Given the description of an element on the screen output the (x, y) to click on. 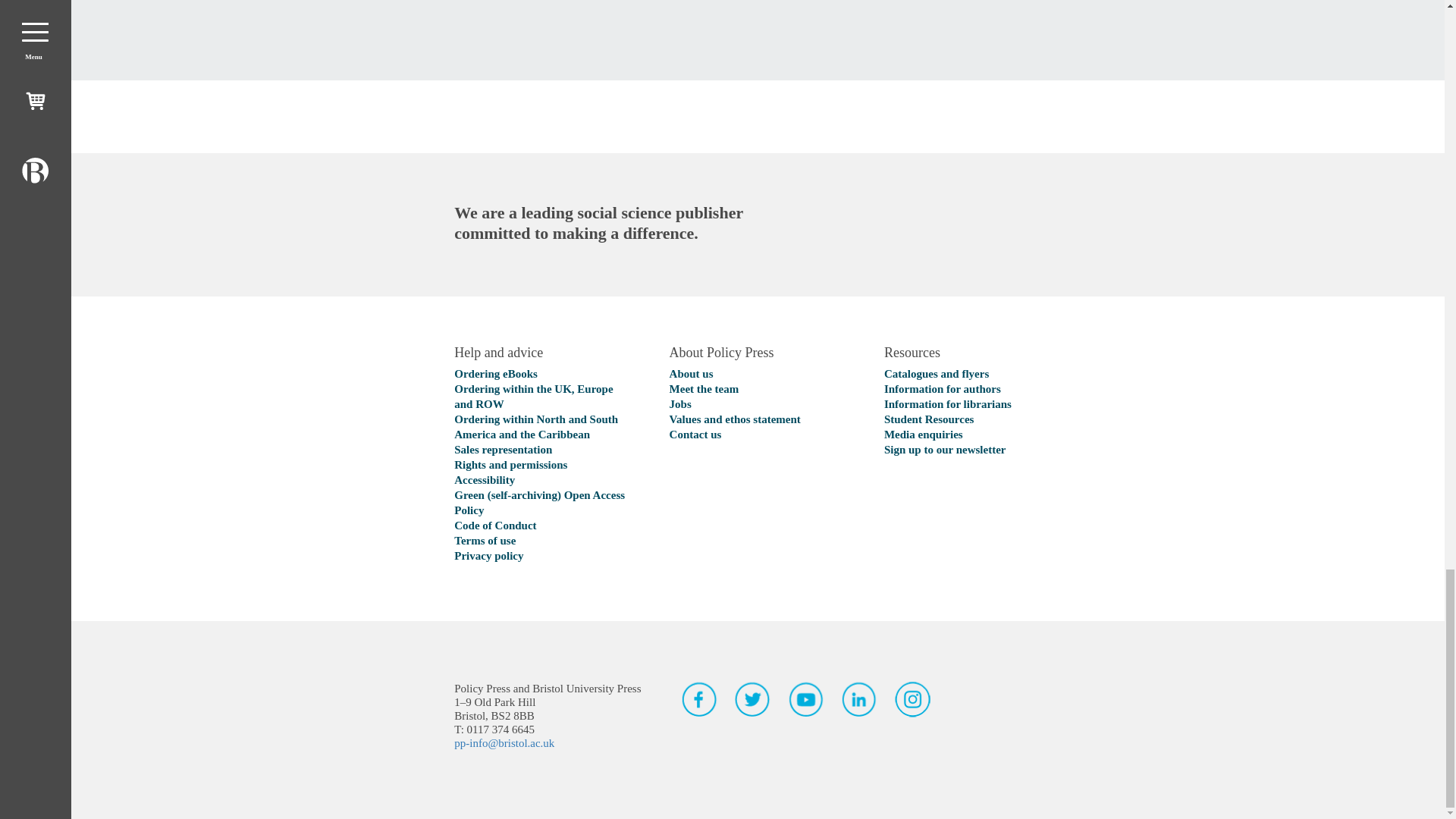
Facebook page (699, 699)
YouTube page (806, 699)
Instagram page (912, 699)
LinkedIn page (859, 699)
Twitter page (752, 699)
